Given the description of an element on the screen output the (x, y) to click on. 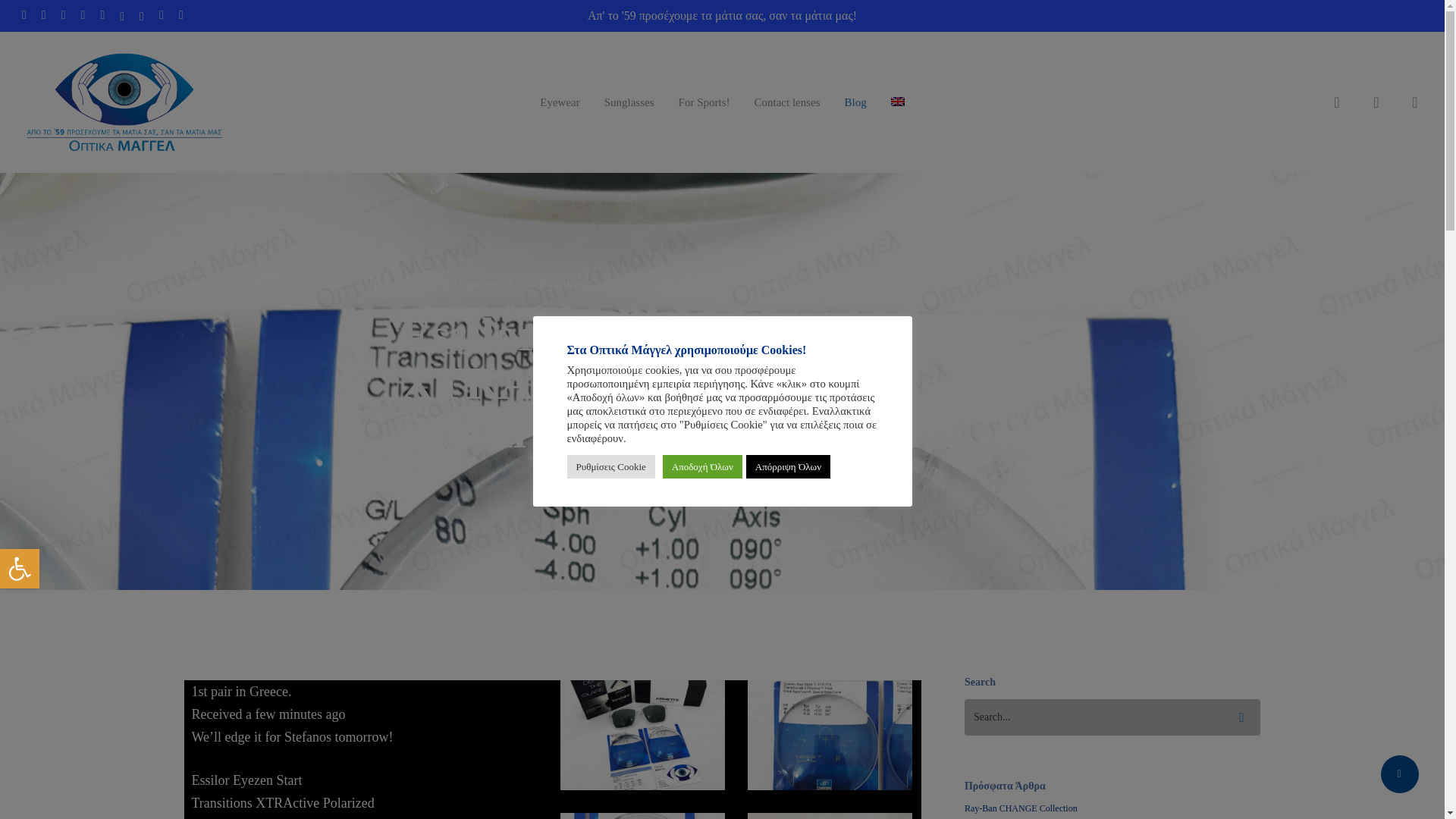
email (181, 15)
Search for: (1111, 717)
Contact lenses (19, 568)
Grayscale (786, 101)
Decrease Text (559, 101)
Blog (704, 101)
Links Underline (855, 101)
Increase Text (23, 15)
